Given the description of an element on the screen output the (x, y) to click on. 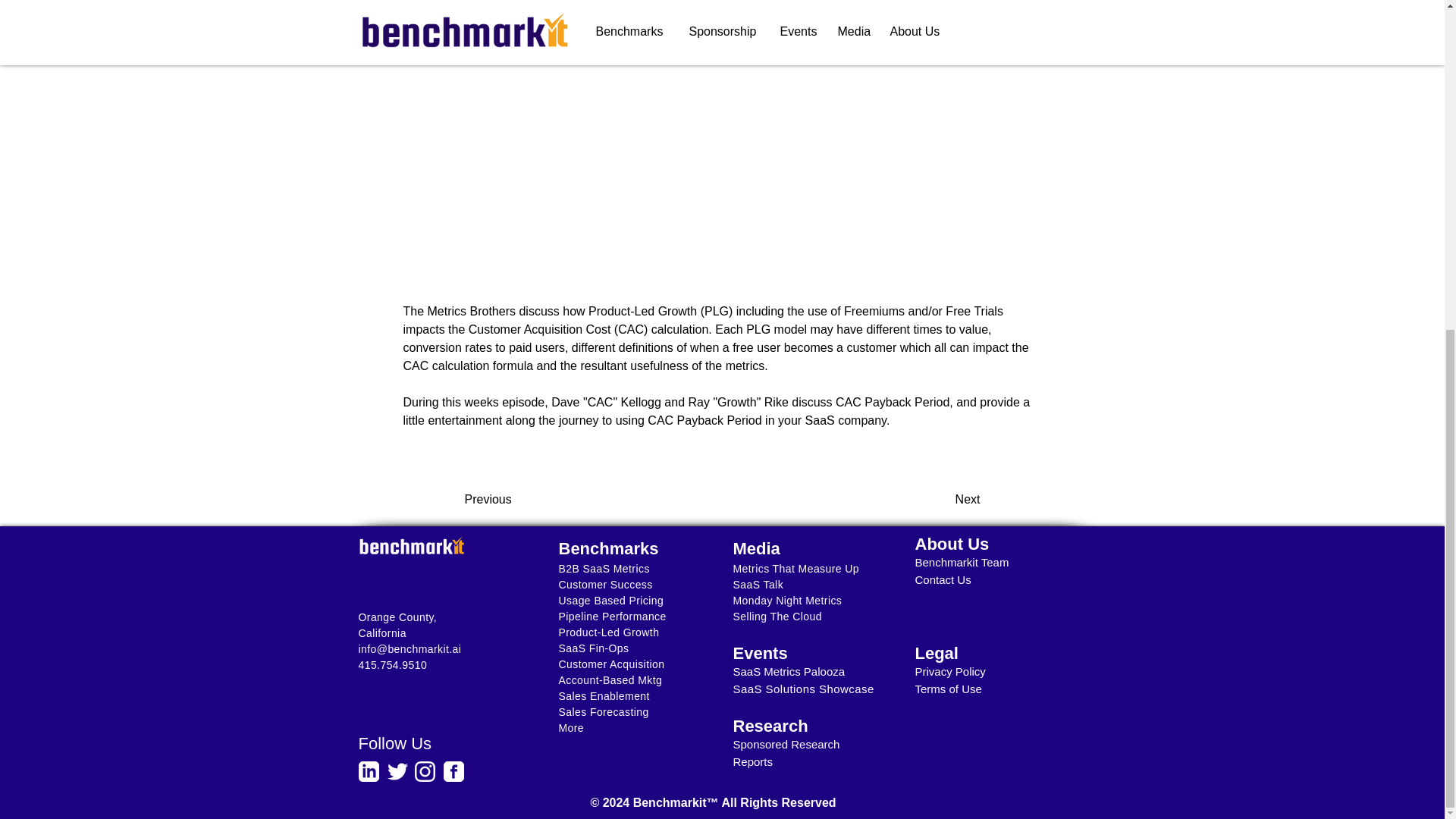
Pipeline Performance (611, 616)
Previous (514, 500)
Account-Based Mktg (609, 680)
SaaS Fin-Ops (592, 648)
More (570, 727)
Customer Success (604, 584)
Next (941, 500)
Sales Forecasting (602, 711)
Usage Based Pricing (610, 600)
Metrics That Measure Up (795, 568)
